Given the description of an element on the screen output the (x, y) to click on. 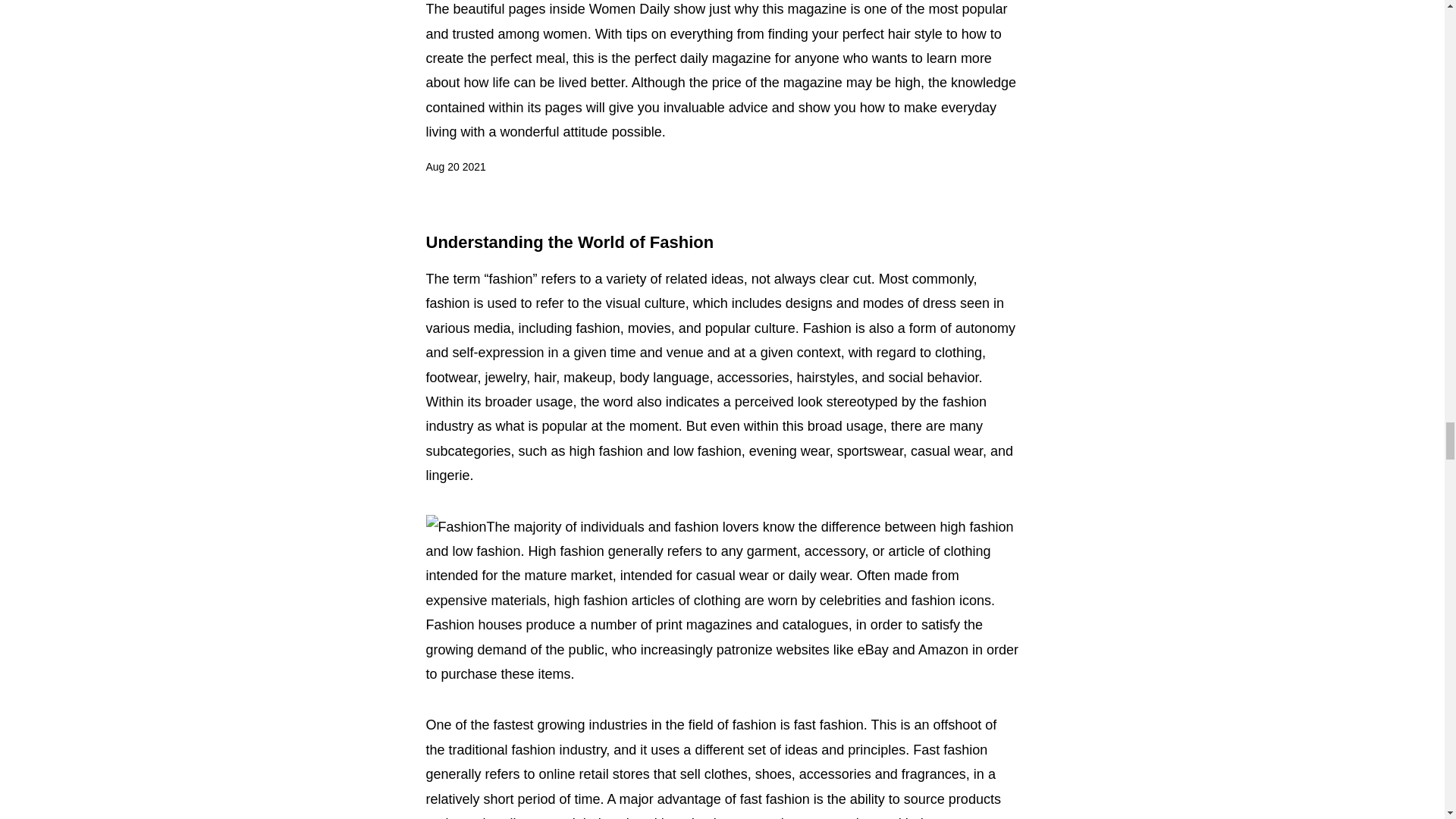
Understanding the World of Fashion (570, 241)
Aug 20 2021 (456, 167)
